Given the description of an element on the screen output the (x, y) to click on. 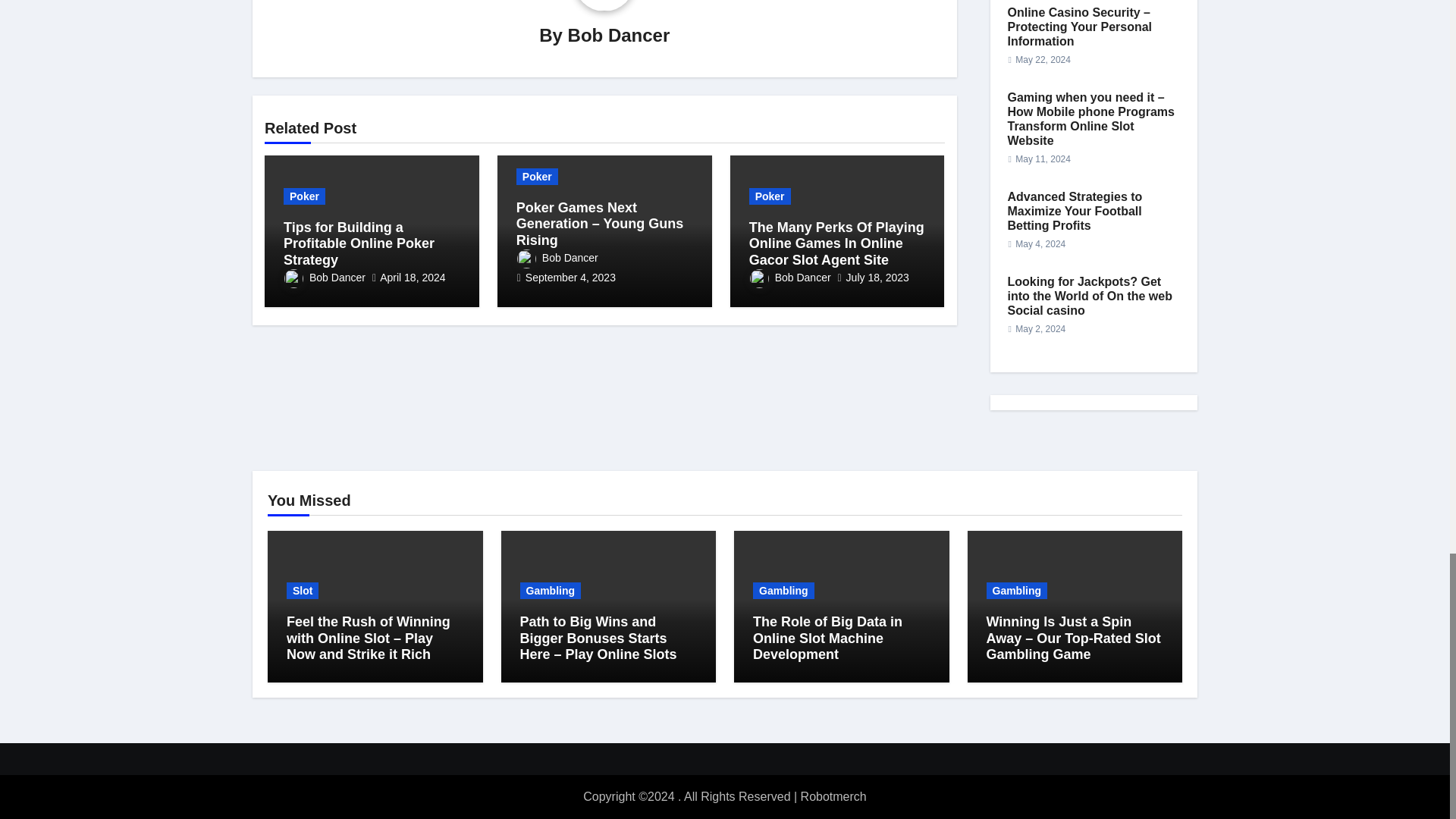
Bob Dancer (618, 35)
Poker (303, 196)
